Given the description of an element on the screen output the (x, y) to click on. 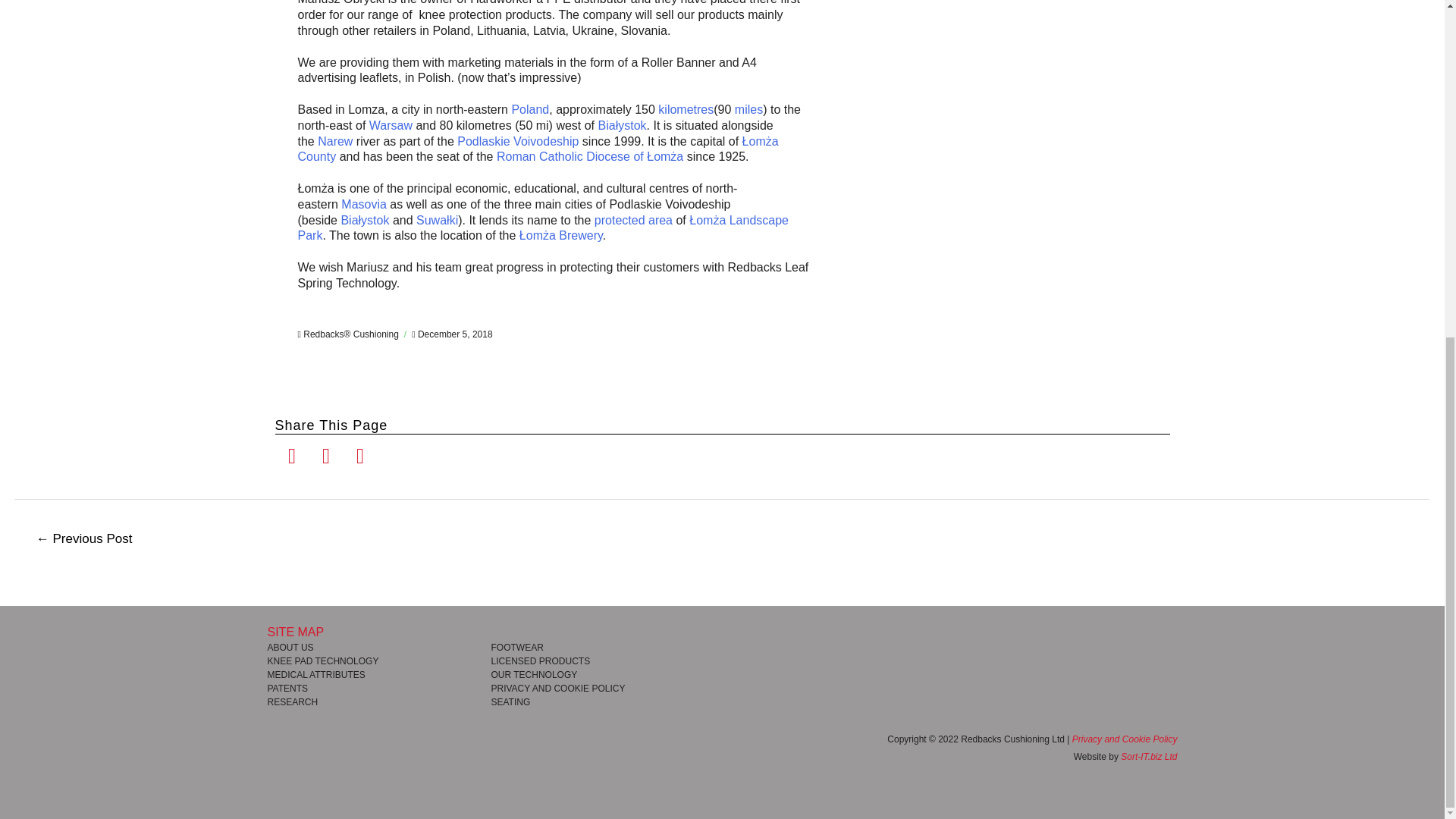
Masovia (363, 204)
kilometres (685, 109)
Masovia (363, 204)
Warsaw (390, 124)
Podlaskie Voivodeship (517, 141)
Narew (334, 141)
Poland (529, 109)
Podlaskie Voivodeship (517, 141)
Kilometre (685, 109)
protected area (633, 219)
